Given the description of an element on the screen output the (x, y) to click on. 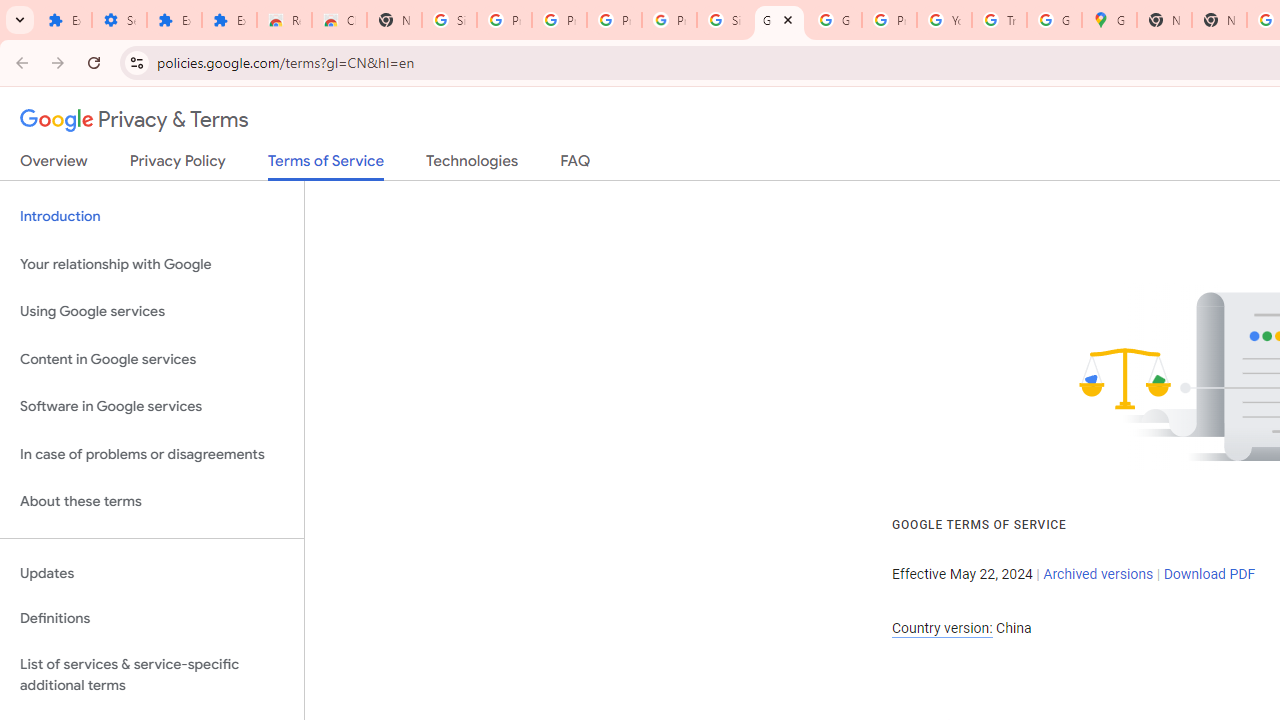
New Tab (394, 20)
Archived versions (1098, 574)
Google Maps (1108, 20)
YouTube (943, 20)
Content in Google services (152, 358)
Extensions (64, 20)
Reviews: Helix Fruit Jump Arcade Game (284, 20)
Terms of Service (326, 166)
New Tab (1163, 20)
Sign in - Google Accounts (449, 20)
